Given the description of an element on the screen output the (x, y) to click on. 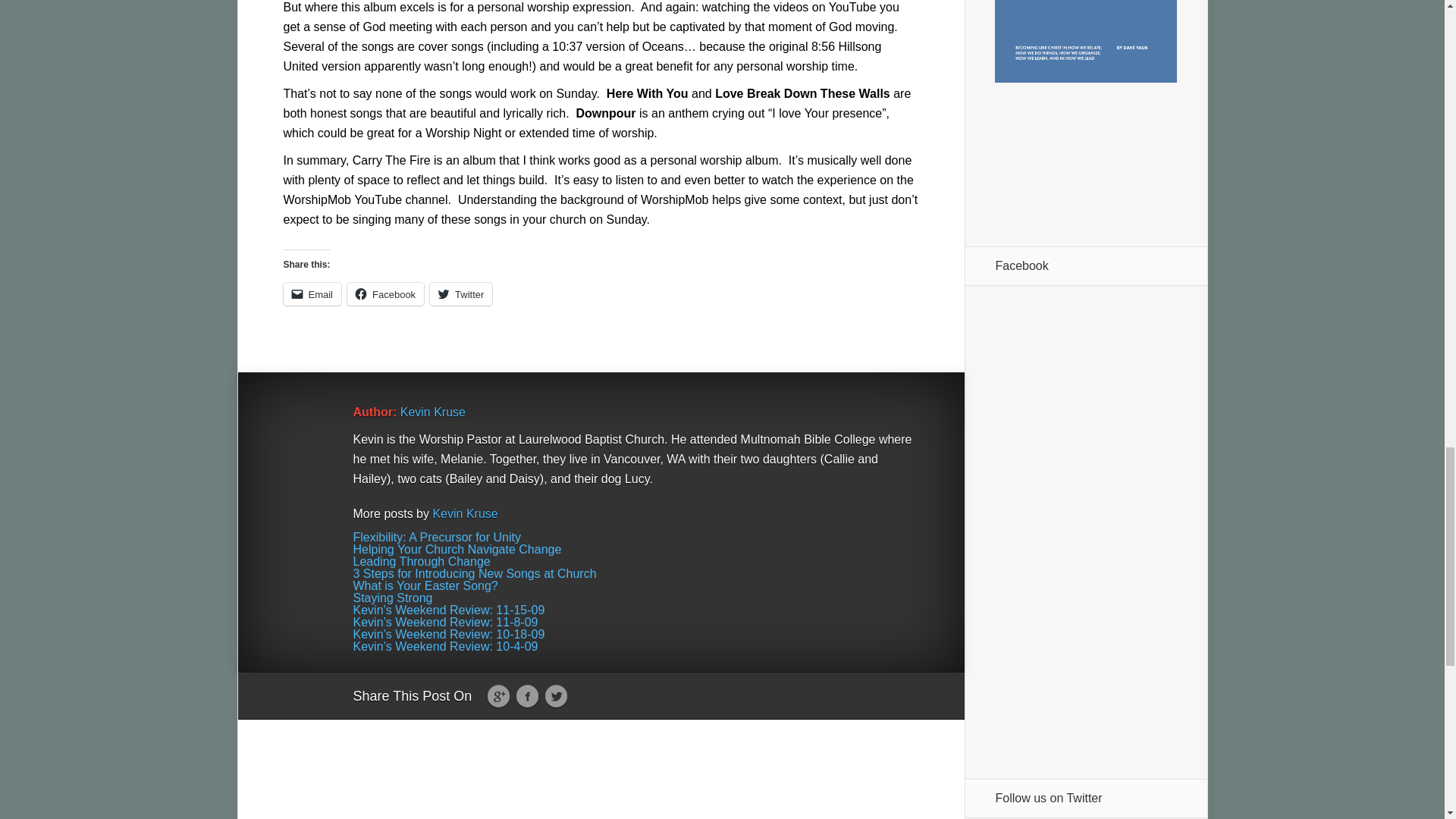
Click to share on Facebook (385, 293)
Click to email a link to a friend (312, 293)
Click to share on Twitter (460, 293)
